Given the description of an element on the screen output the (x, y) to click on. 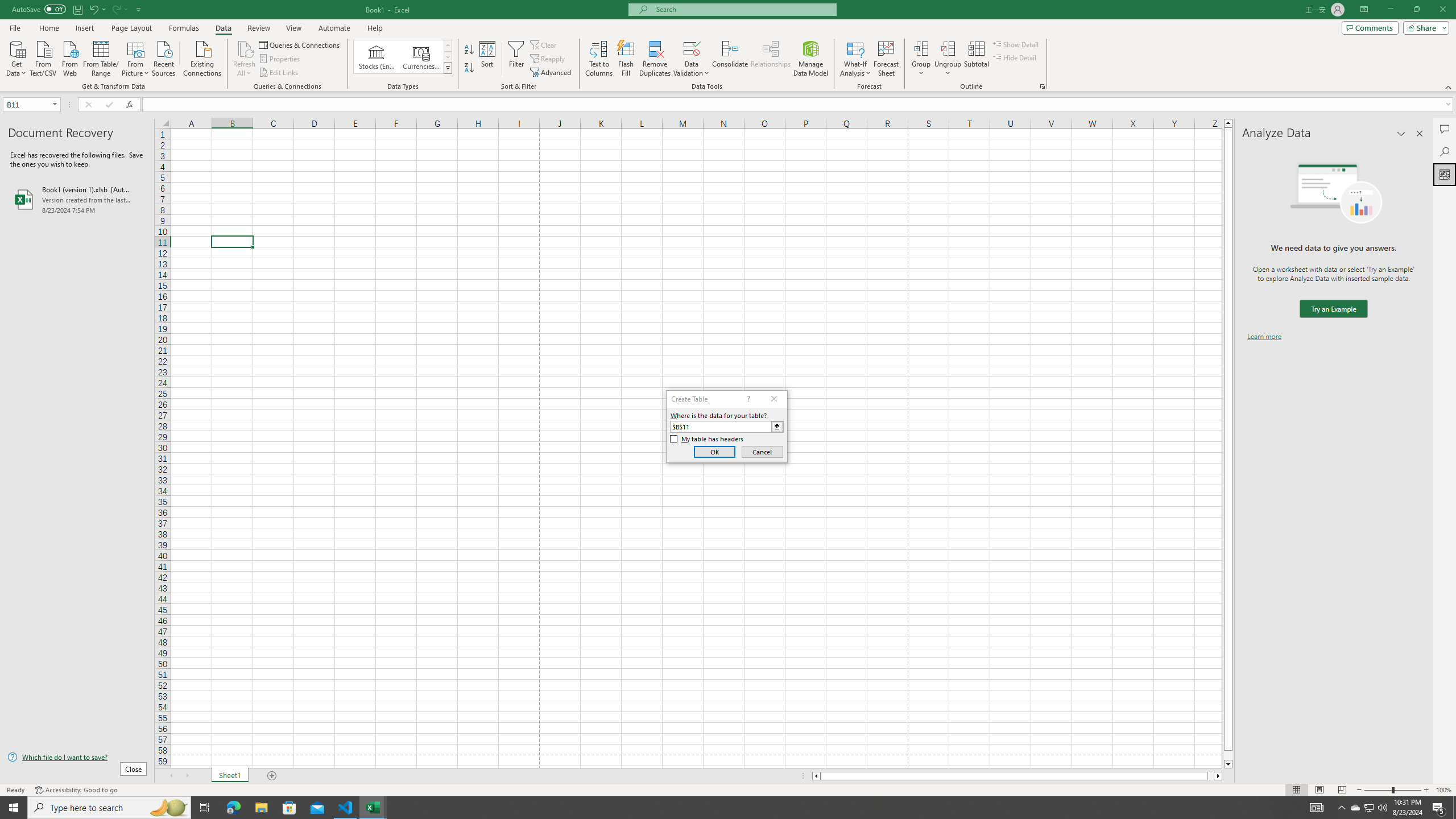
Sort A to Z (469, 49)
